Given the description of an element on the screen output the (x, y) to click on. 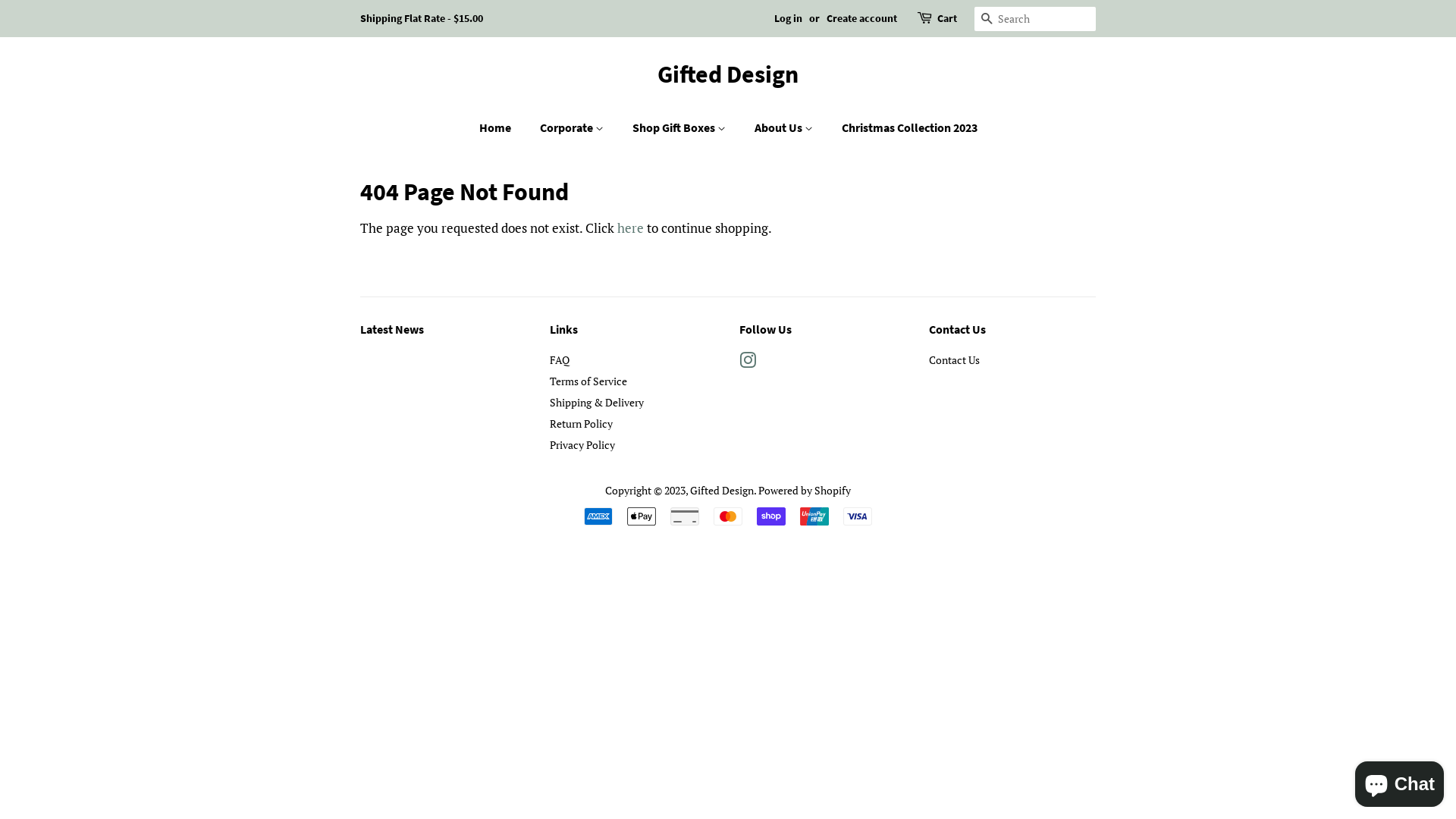
Create account Element type: text (861, 18)
Shop Gift Boxes Element type: text (680, 127)
Cart Element type: text (947, 18)
Latest News Element type: text (391, 328)
About Us Element type: text (785, 127)
Shipping & Delivery Element type: text (596, 402)
Home Element type: text (502, 127)
Christmas Collection 2023 Element type: text (902, 127)
Contact Us Element type: text (953, 359)
Search Element type: text (986, 18)
FAQ Element type: text (559, 359)
Privacy Policy Element type: text (582, 444)
Corporate Element type: text (572, 127)
here Element type: text (630, 227)
Log in Element type: text (788, 18)
Shopify online store chat Element type: hover (1399, 780)
Gifted Design Element type: text (721, 490)
Gifted Design Element type: text (727, 73)
Powered by Shopify Element type: text (804, 490)
Terms of Service Element type: text (588, 380)
Return Policy Element type: text (580, 423)
Instagram Element type: text (747, 362)
